Given the description of an element on the screen output the (x, y) to click on. 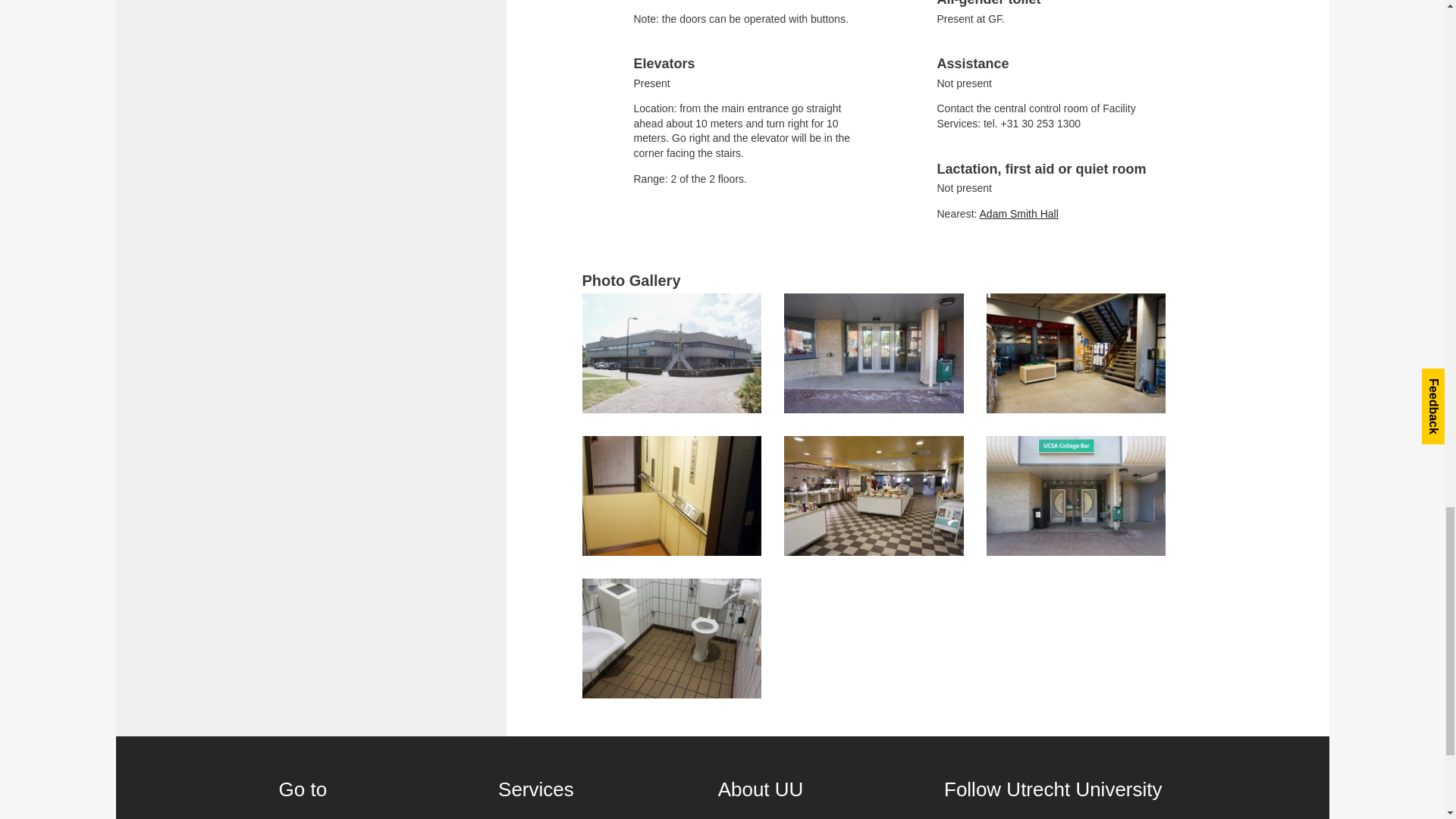
Adam Smith Hall (1018, 214)
